Given the description of an element on the screen output the (x, y) to click on. 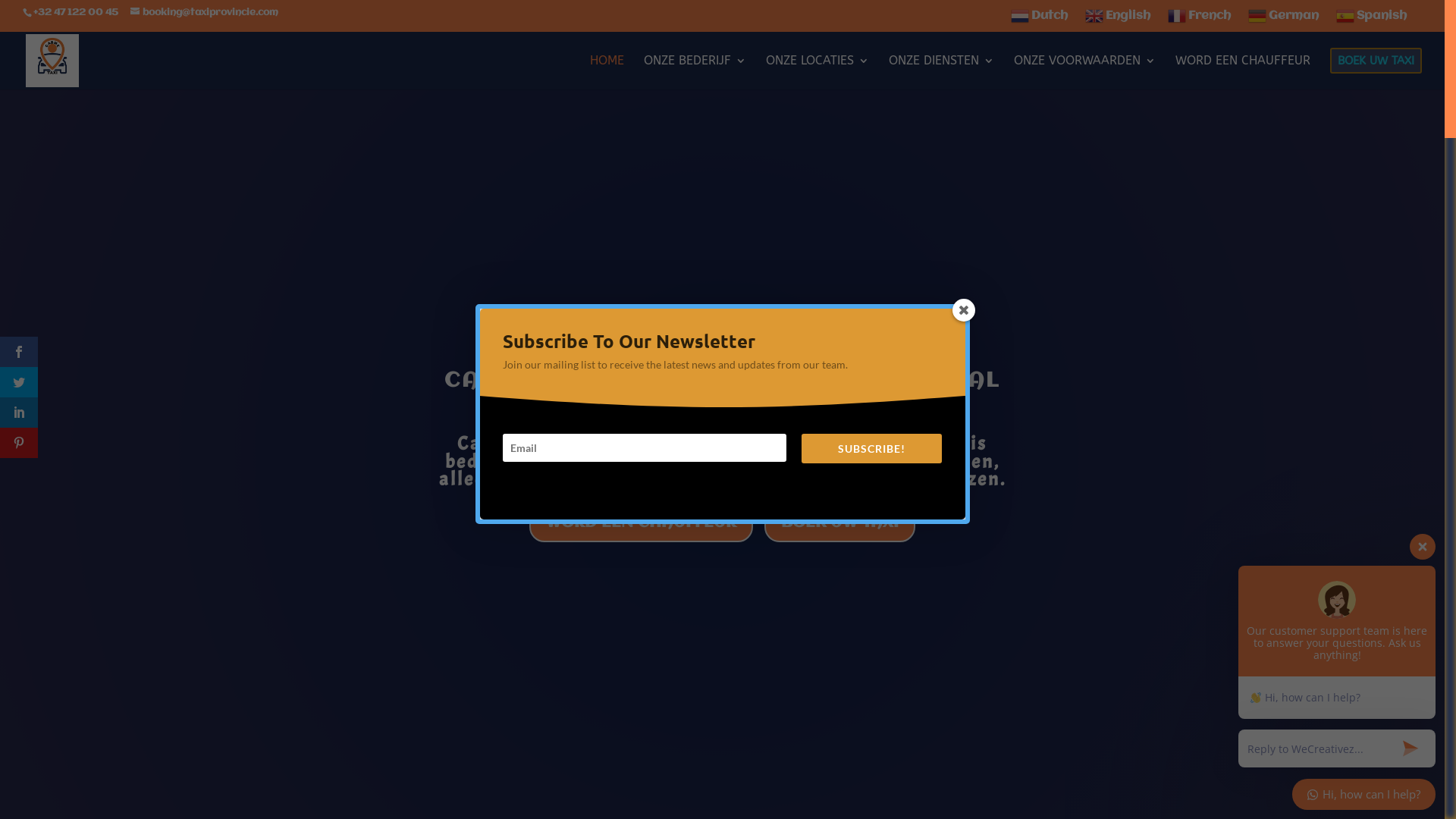
ONZE VOORWAARDEN Element type: text (1084, 71)
BOEK UW TAXI Element type: text (1375, 68)
German Element type: text (1285, 18)
WORD EEN CHAUFFEUR Element type: text (1242, 71)
English Element type: text (1119, 18)
ONZE BEDERIJF Element type: text (694, 71)
HOME Element type: text (606, 71)
booking@taxiprovincie.com Element type: text (204, 12)
Spanish Element type: text (1373, 18)
ONZE DIENSTEN Element type: text (941, 71)
WORD EEN CHAUFFEUR Element type: text (641, 523)
SUBSCRIBE! Element type: text (871, 448)
French Element type: text (1200, 18)
BOEK UW TAXI Element type: text (839, 523)
ONZE LOCATIES Element type: text (817, 71)
Dutch Element type: text (1040, 18)
